Given the description of an element on the screen output the (x, y) to click on. 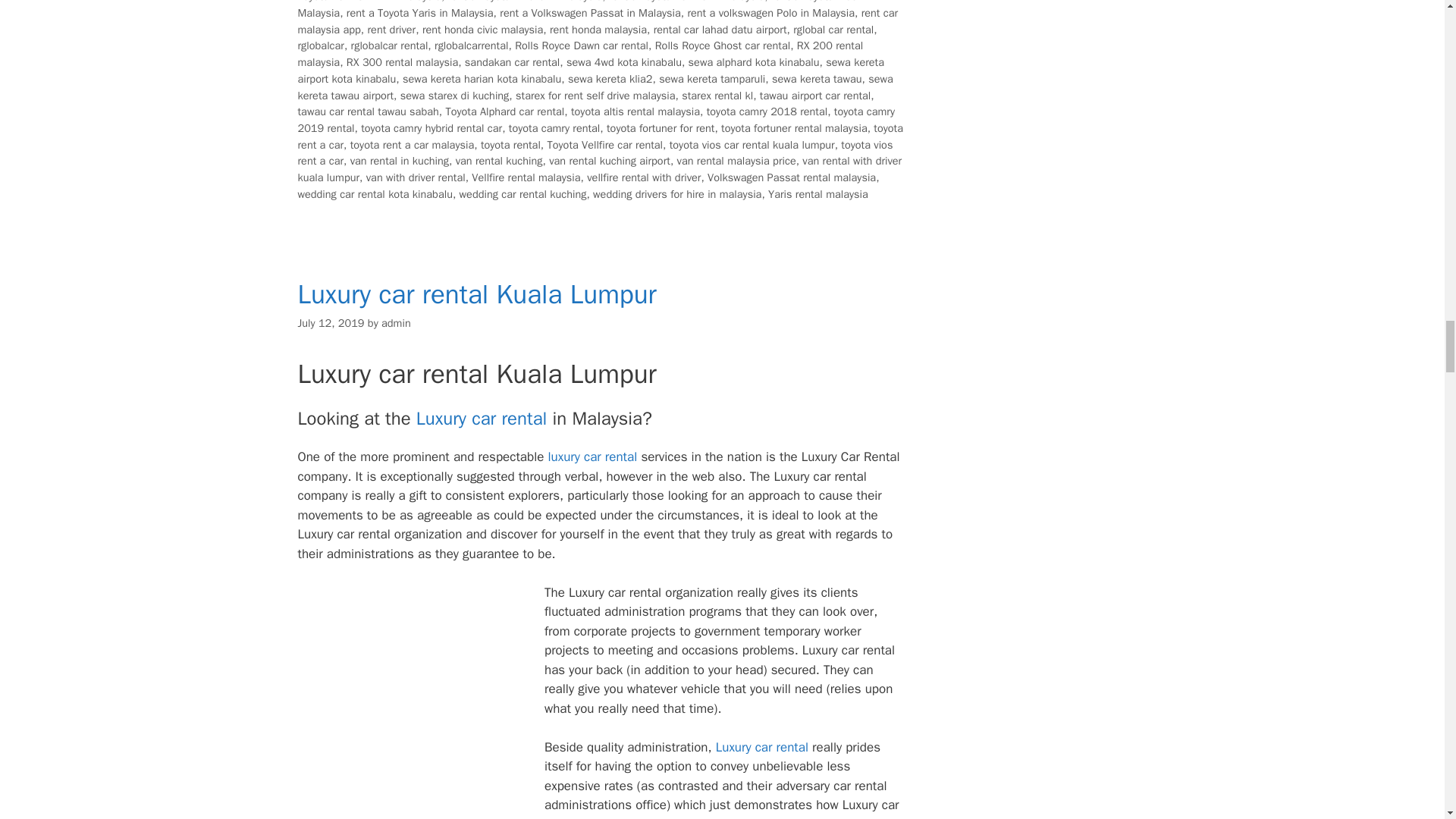
View all posts by admin (395, 323)
